Given the description of an element on the screen output the (x, y) to click on. 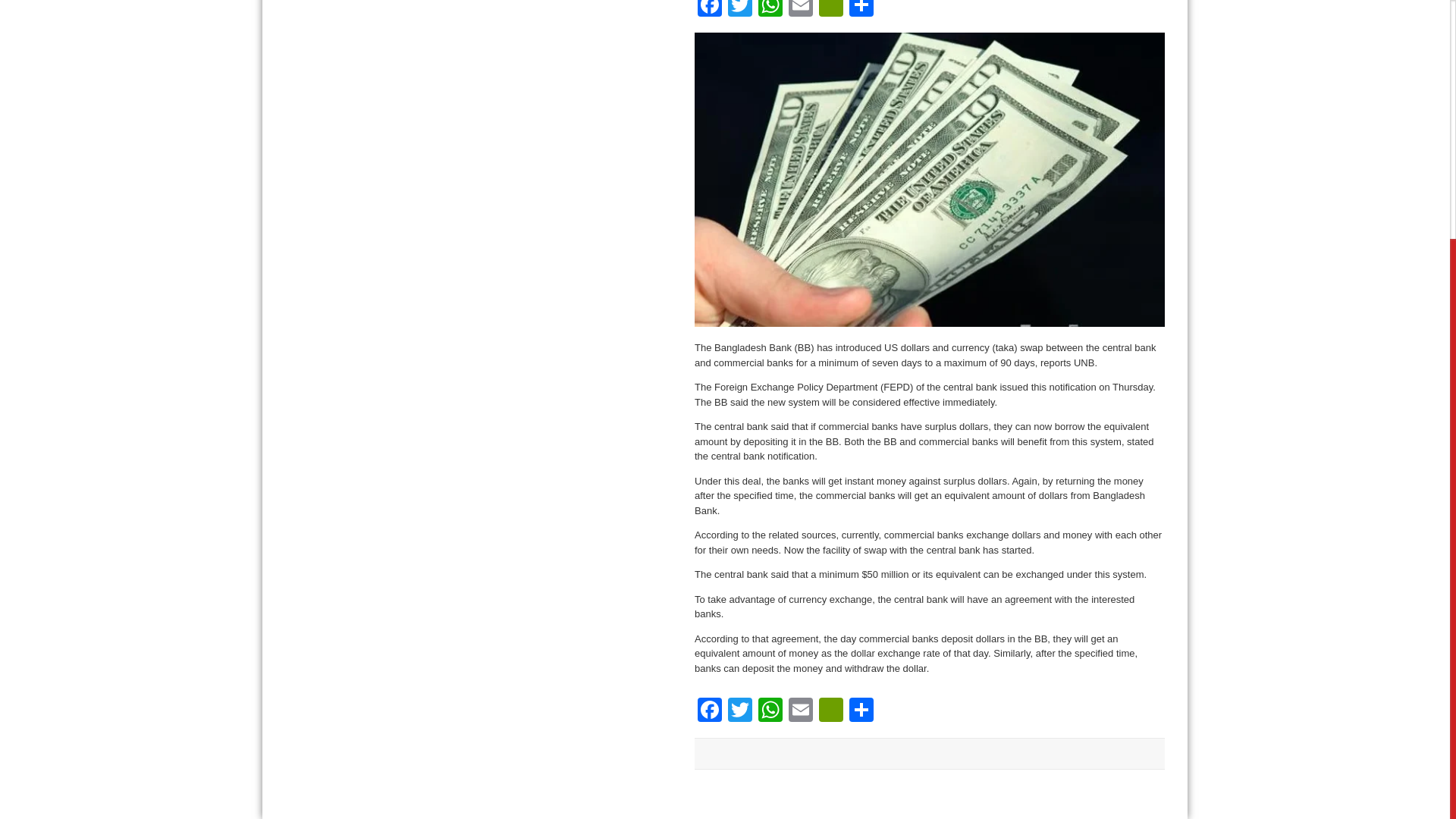
WhatsApp (770, 711)
WhatsApp (770, 10)
Email (800, 711)
Facebook (709, 711)
WhatsApp (770, 711)
Email (800, 711)
Facebook (709, 10)
PrintFriendly (830, 711)
Twitter (740, 711)
Email (800, 10)
